Given the description of an element on the screen output the (x, y) to click on. 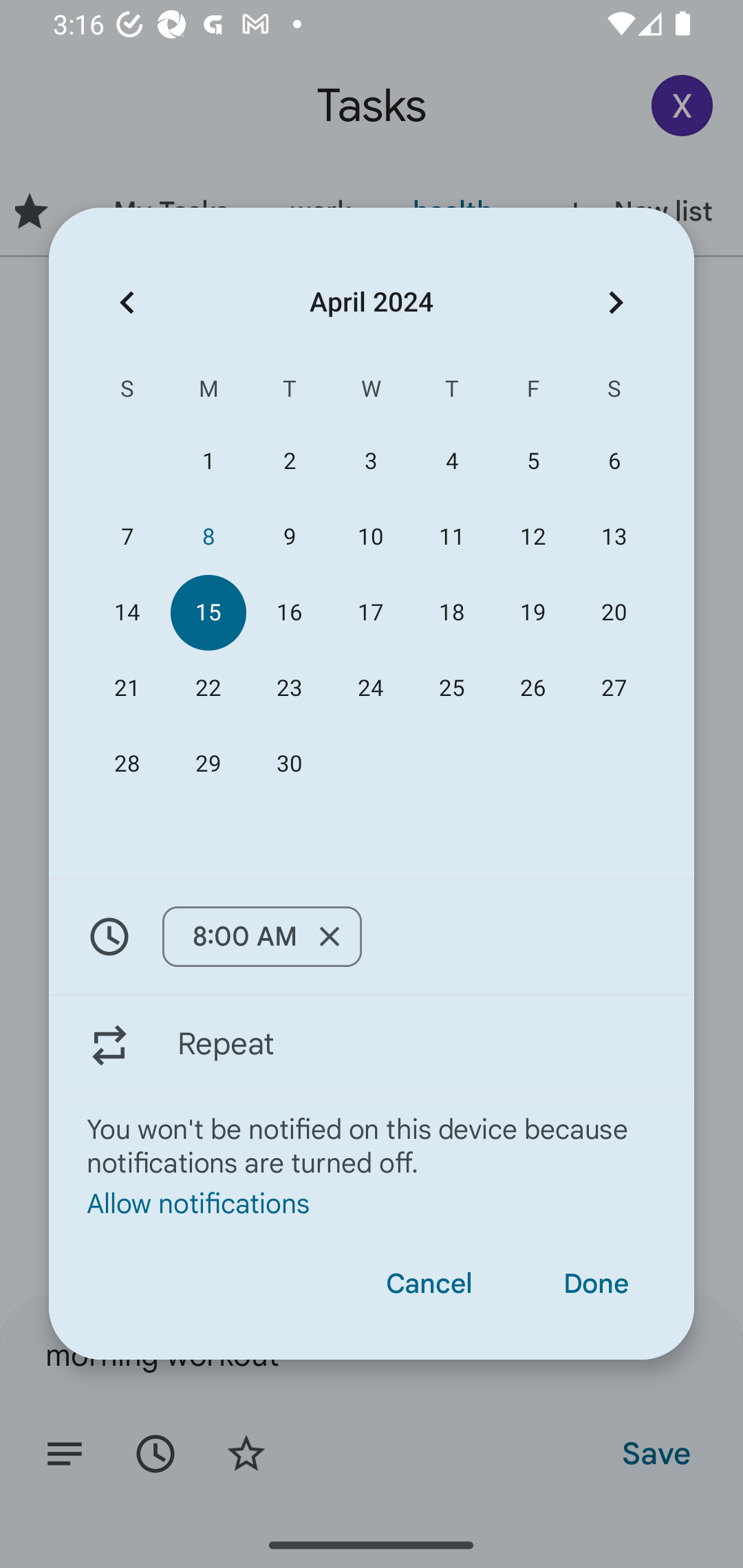
Previous month (126, 302)
Next month (615, 302)
1 01 April 2024 (207, 460)
2 02 April 2024 (288, 460)
3 03 April 2024 (370, 460)
4 04 April 2024 (451, 460)
5 05 April 2024 (532, 460)
6 06 April 2024 (613, 460)
7 07 April 2024 (126, 536)
8 08 April 2024 (207, 536)
9 09 April 2024 (288, 536)
10 10 April 2024 (370, 536)
11 11 April 2024 (451, 536)
12 12 April 2024 (532, 536)
13 13 April 2024 (613, 536)
14 14 April 2024 (126, 612)
15 15 April 2024 (207, 612)
16 16 April 2024 (288, 612)
17 17 April 2024 (370, 612)
18 18 April 2024 (451, 612)
19 19 April 2024 (532, 612)
20 20 April 2024 (613, 612)
21 21 April 2024 (126, 687)
22 22 April 2024 (207, 687)
23 23 April 2024 (288, 687)
24 24 April 2024 (370, 687)
25 25 April 2024 (451, 687)
26 26 April 2024 (532, 687)
27 27 April 2024 (613, 687)
28 28 April 2024 (126, 763)
29 29 April 2024 (207, 763)
30 30 April 2024 (288, 763)
8:00 AM Remove 8:00 AM (371, 936)
8:00 AM Remove 8:00 AM (261, 935)
Repeat (371, 1044)
Allow notifications (371, 1202)
Cancel (429, 1283)
Done (595, 1283)
